Given the description of an element on the screen output the (x, y) to click on. 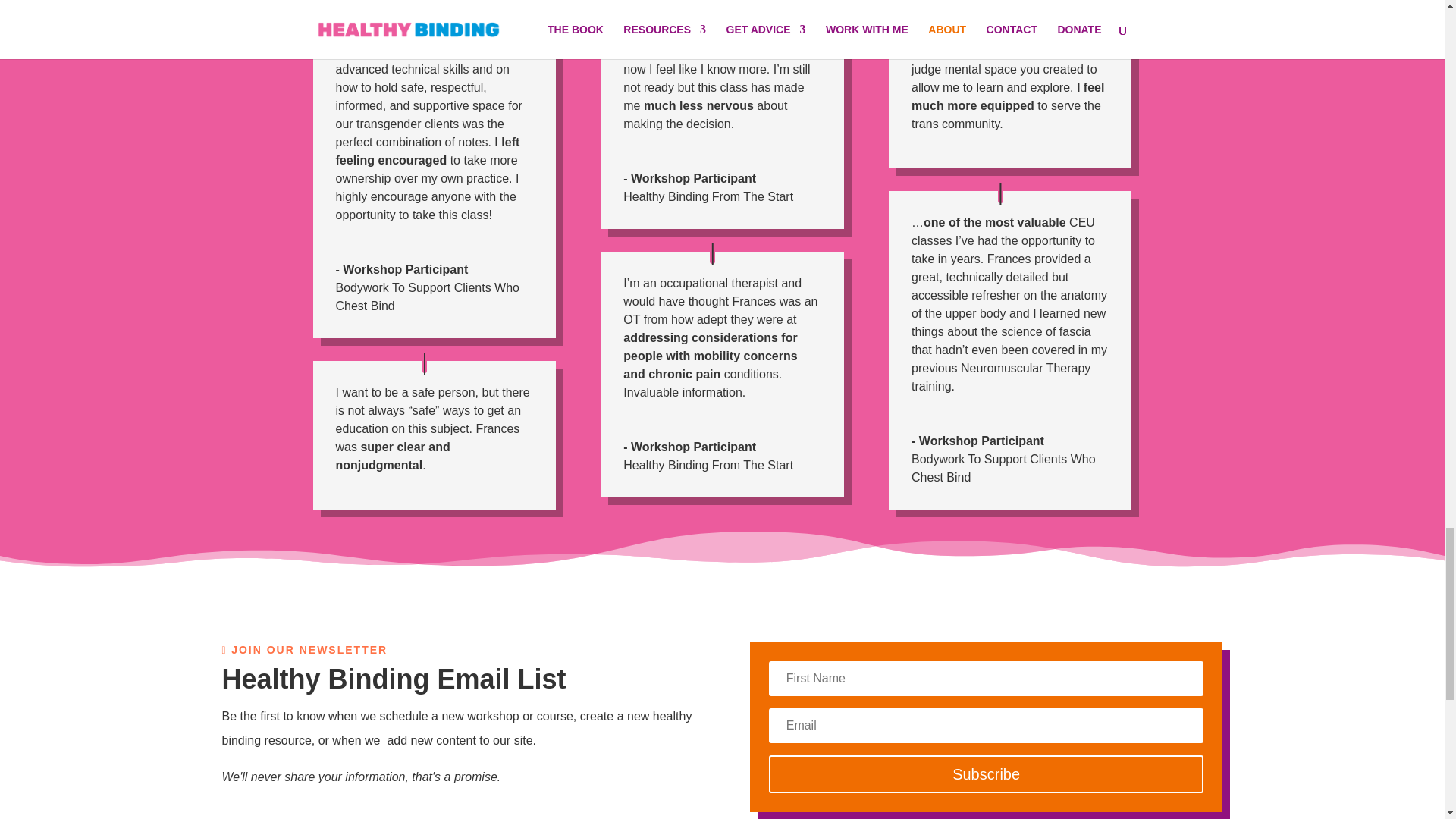
Subscribe (986, 774)
